Given the description of an element on the screen output the (x, y) to click on. 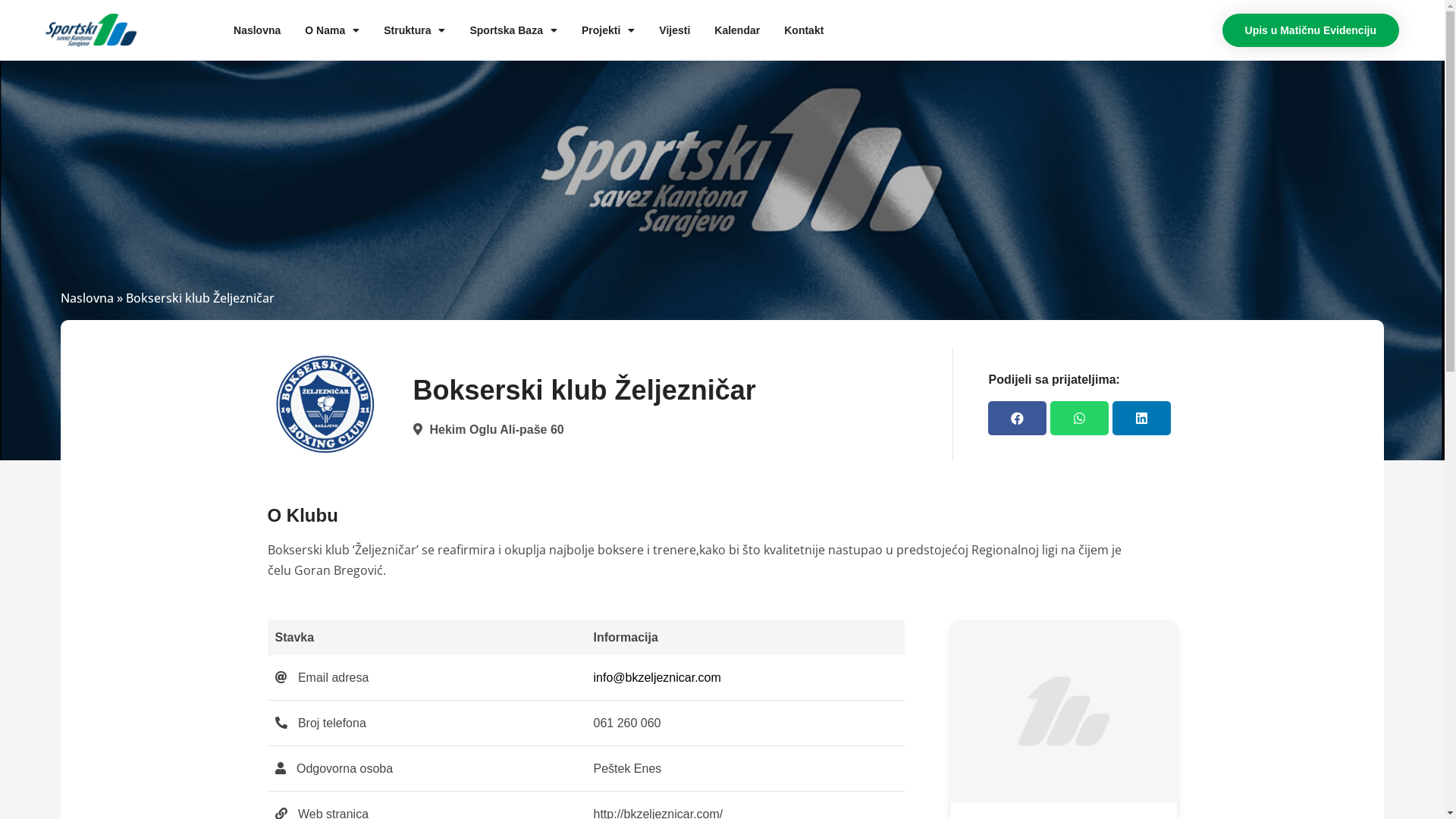
Kalendar Element type: text (736, 30)
O Nama Element type: text (331, 30)
Sportska Baza Element type: text (512, 30)
logo-img-placeholder Element type: hover (1063, 711)
Vijesti Element type: text (674, 30)
Struktura Element type: text (414, 30)
Naslovna Element type: text (86, 297)
Kontakt Element type: text (803, 30)
cropped-ssks-logo.png Element type: hover (90, 30)
Projekti Element type: text (607, 30)
info@bkzeljeznicar.com Element type: text (656, 677)
Naslovna Element type: text (256, 30)
